Given the description of an element on the screen output the (x, y) to click on. 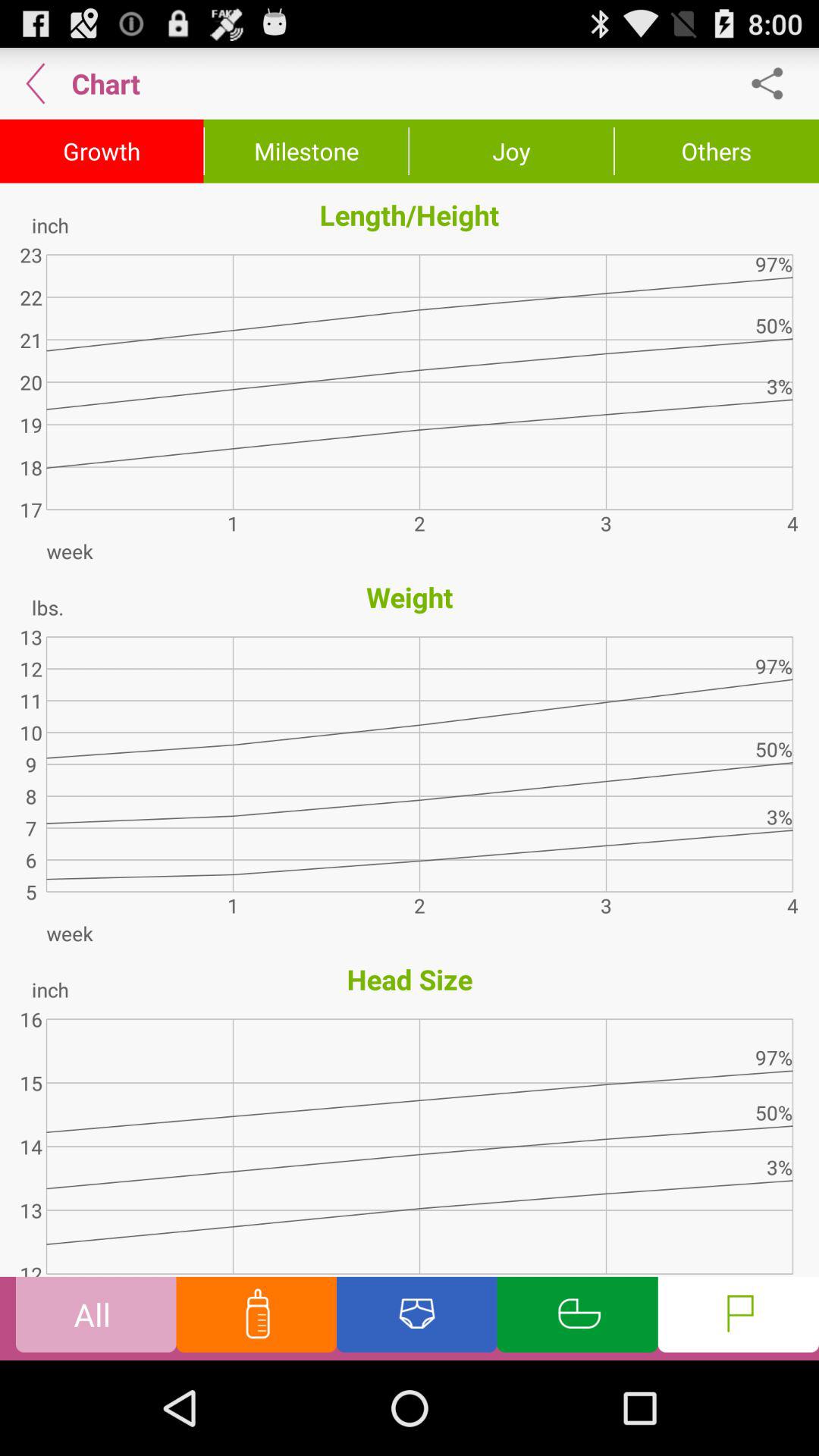
choose the item above growth button (35, 83)
